Given the description of an element on the screen output the (x, y) to click on. 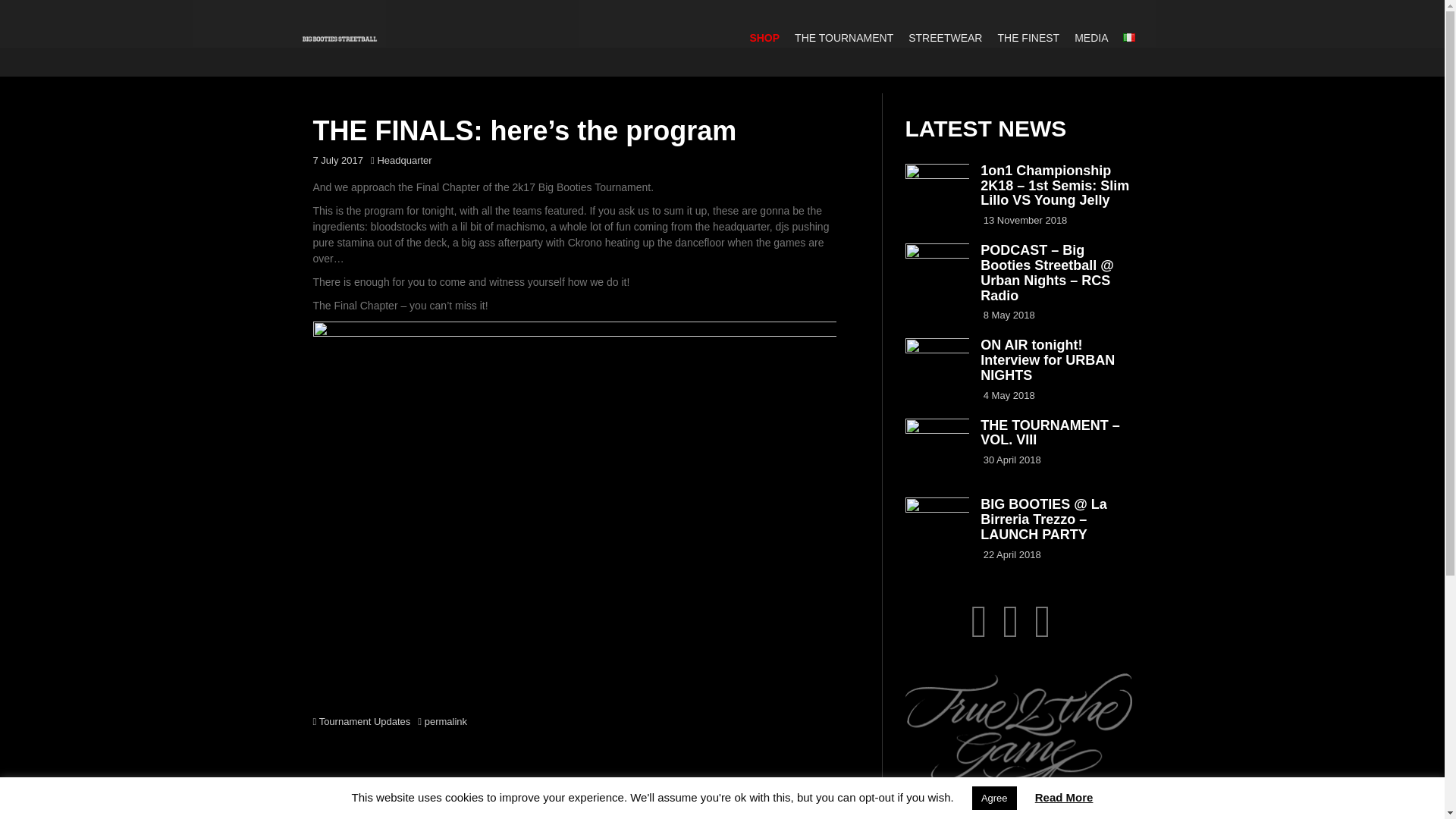
Instagram (979, 633)
ON AIR tonight! Interview for URBAN NIGHTS (1047, 360)
Youtube (1011, 633)
permalink (444, 721)
Big Booties Streetball (339, 37)
7 July 2017 (337, 160)
MEDIA (1091, 37)
THE FINEST (1028, 37)
STREETWEAR (944, 37)
Headquarter (403, 160)
Facebook (1042, 633)
SHOP (763, 37)
Tournament Updates (364, 721)
THE TOURNAMENT (843, 37)
Agree (994, 797)
